Given the description of an element on the screen output the (x, y) to click on. 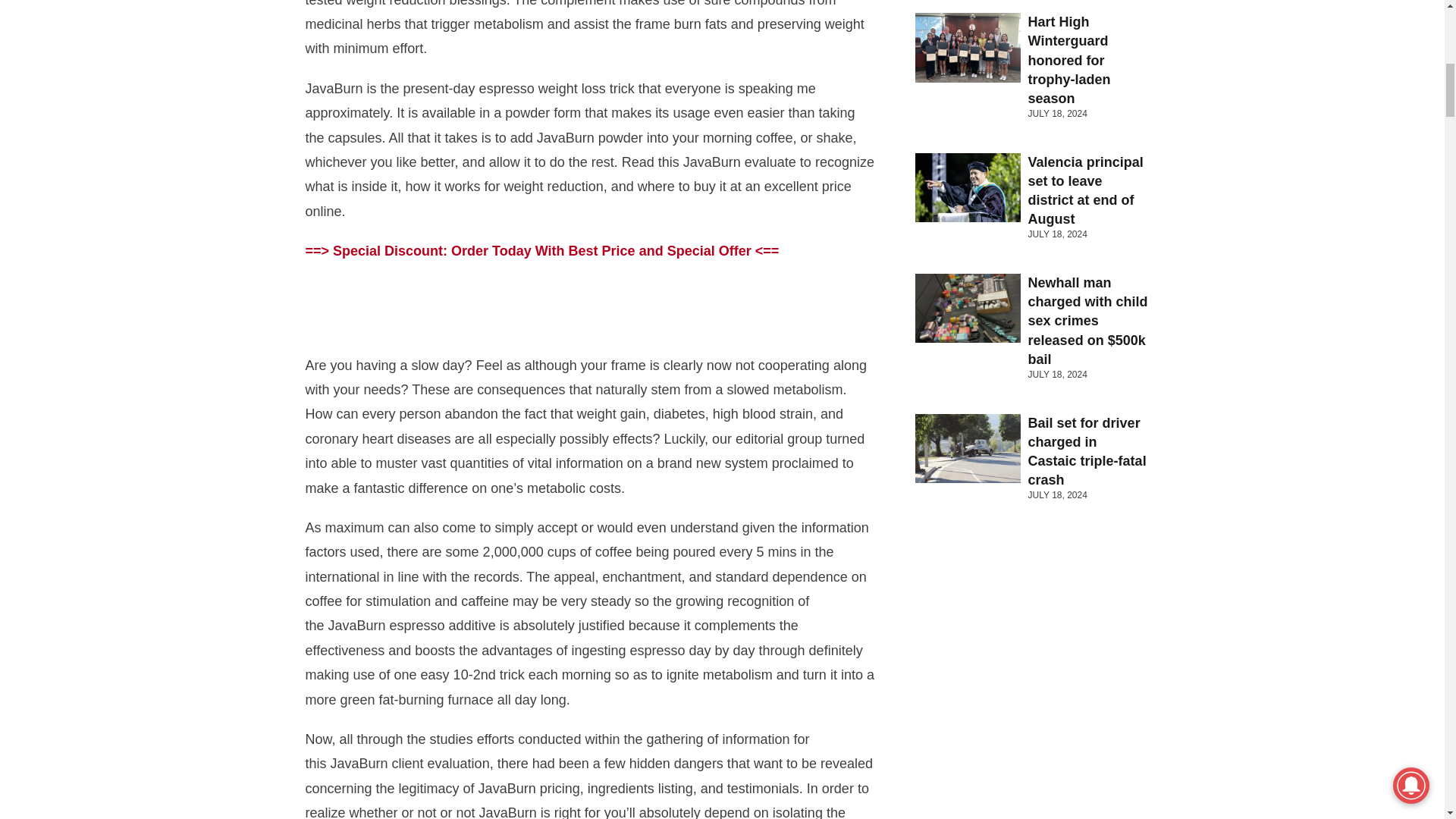
3rd party ad content (591, 313)
